Given the description of an element on the screen output the (x, y) to click on. 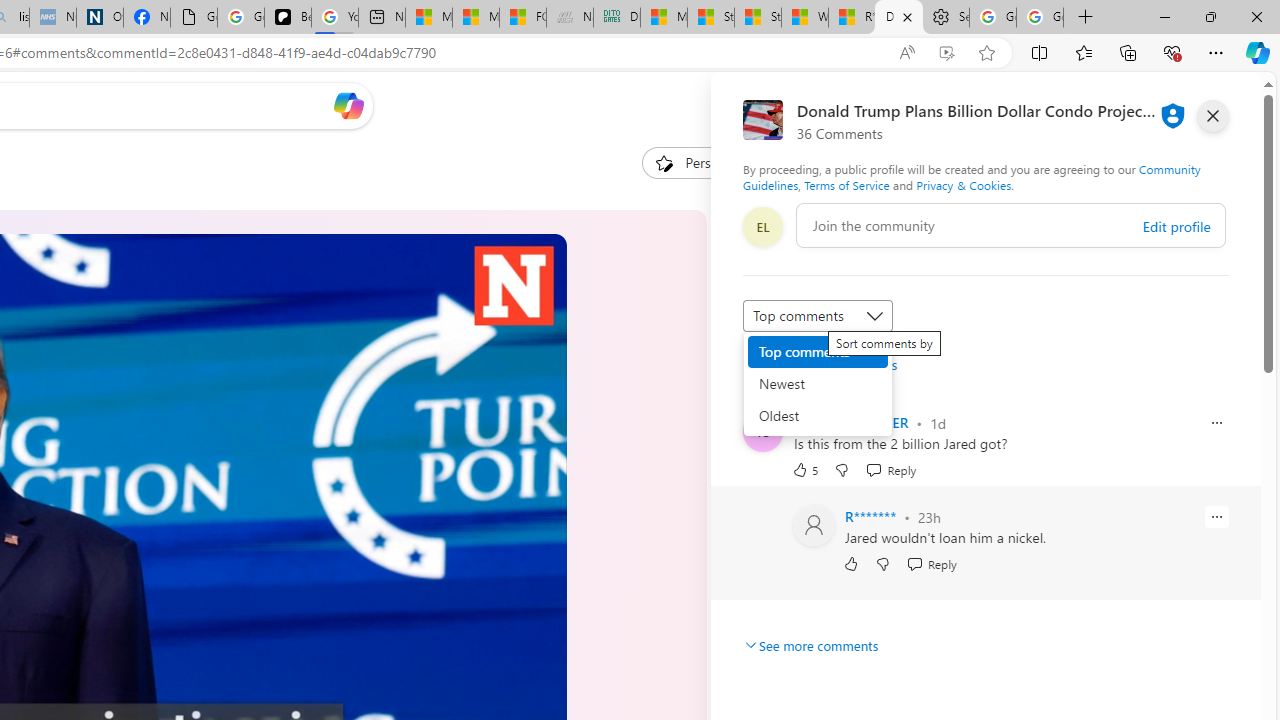
Privacy & Cookies (964, 184)
R******* (870, 516)
The Associated Press (770, 557)
How To Borrow From Your Home Without Touching Your Mortgage (880, 399)
